Given the description of an element on the screen output the (x, y) to click on. 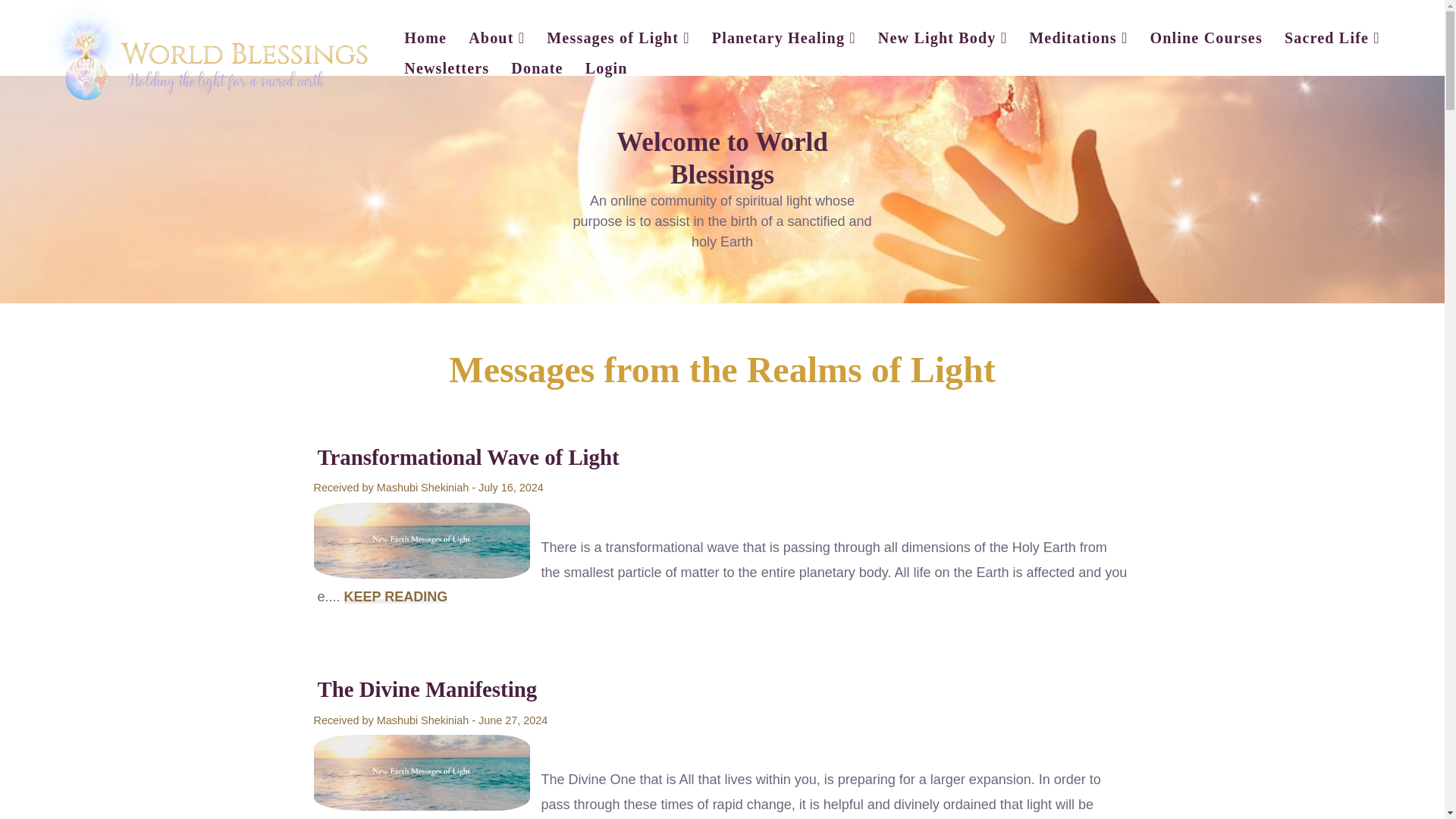
Online Courses (1205, 37)
Newsletters (445, 67)
Donate (536, 67)
World Blessings (208, 52)
Home (424, 37)
Home (424, 37)
Planetary Healing (783, 37)
Messages of Light  (617, 37)
New Light Body  (942, 37)
Planetary Healing  (783, 37)
